Given the description of an element on the screen output the (x, y) to click on. 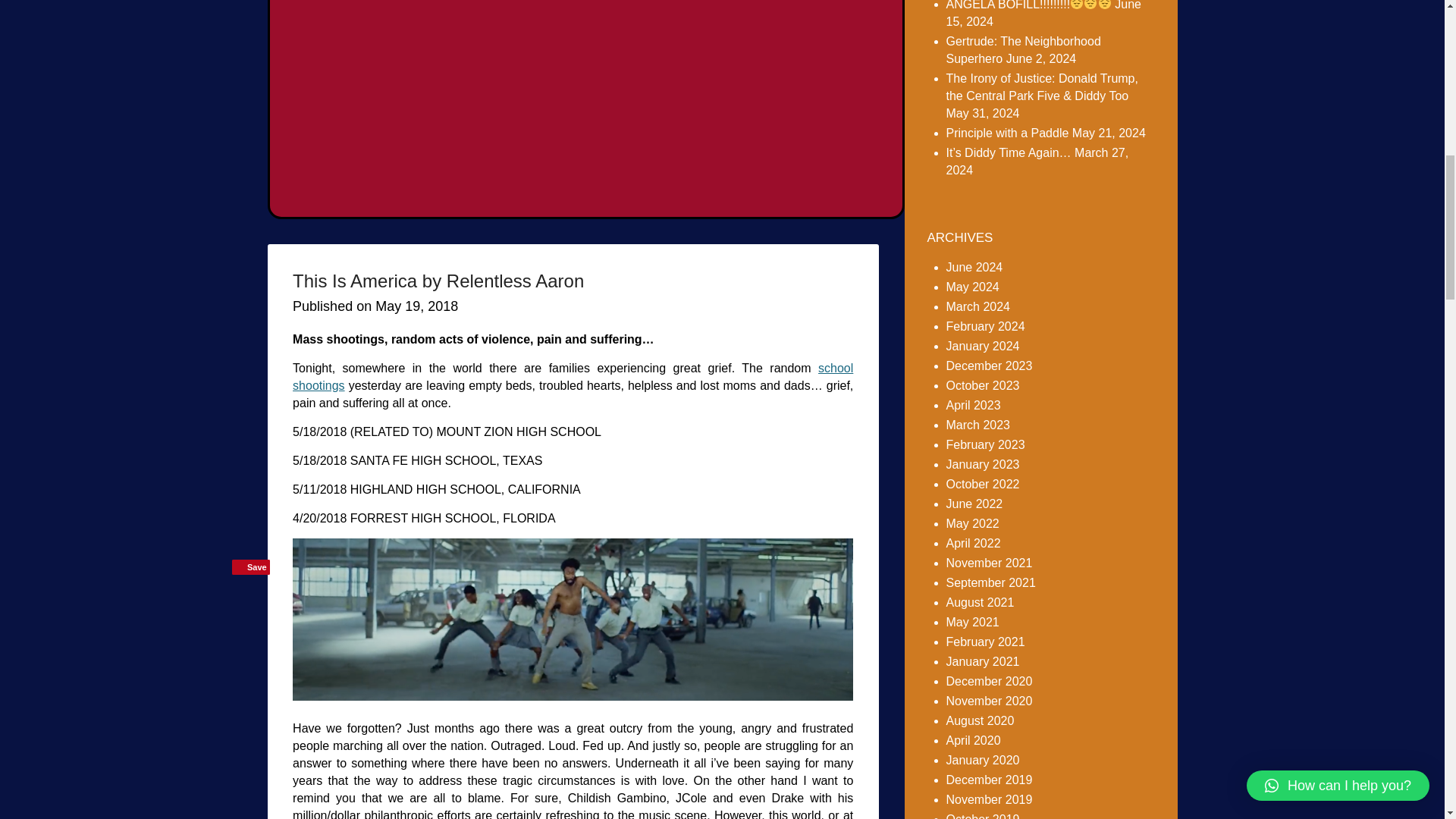
school shootings (572, 376)
Saturday, May 19th, 2018, 11:24 am (416, 305)
School shooting (572, 376)
